Given the description of an element on the screen output the (x, y) to click on. 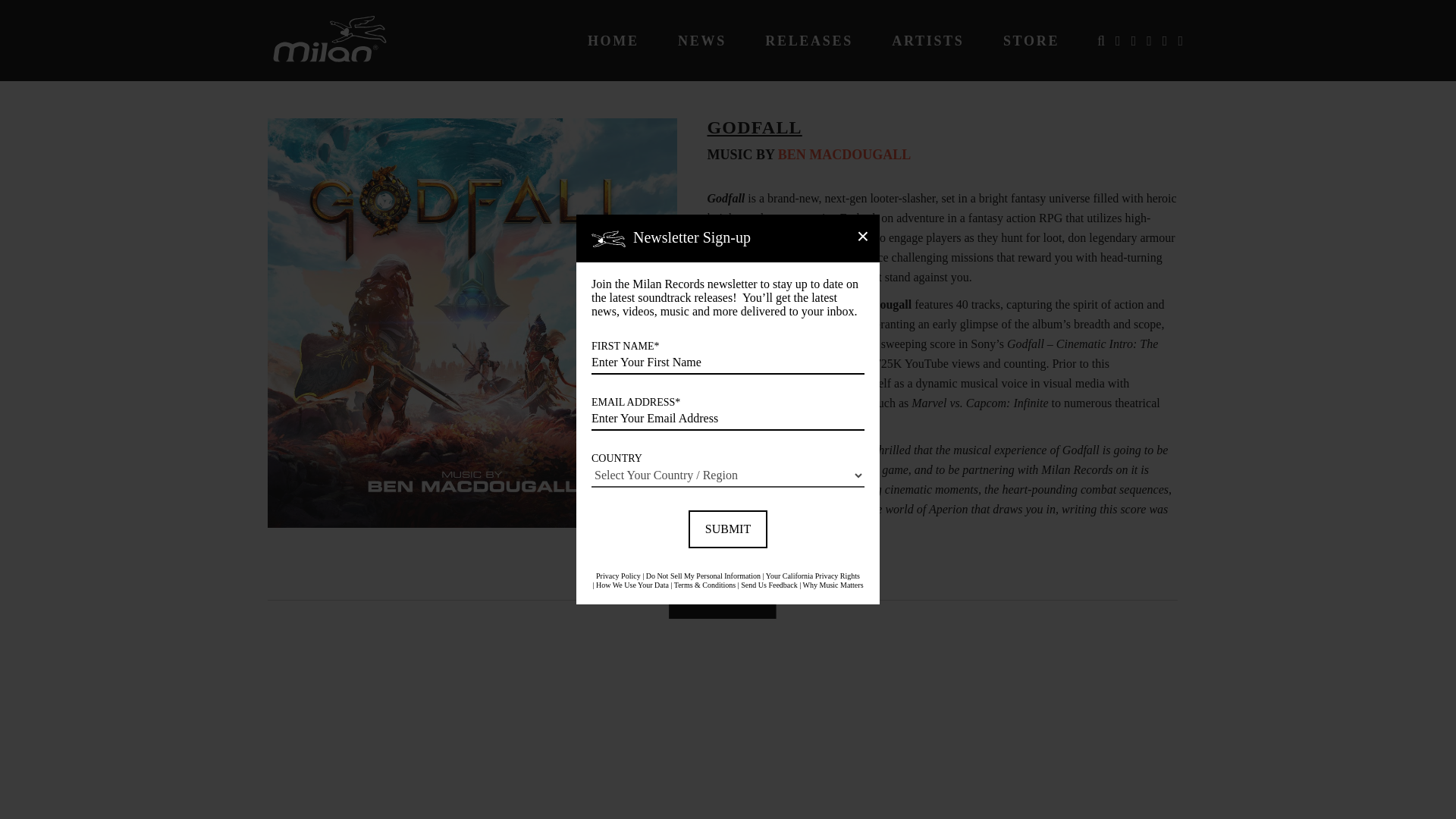
Privacy Policy (617, 575)
How We Use Your Data (631, 584)
BEN MACDOUGALL (844, 154)
HOME (613, 40)
Do Not Sell My Personal Information (703, 575)
Why Music Matters (833, 584)
LISTEN NOW (722, 599)
Send Us Feedback (768, 584)
STORE (1031, 40)
NEWS (702, 40)
Your California Privacy Rights (812, 575)
ARTISTS (927, 40)
RELEASES (809, 40)
SUBMIT (727, 528)
